Given the description of an element on the screen output the (x, y) to click on. 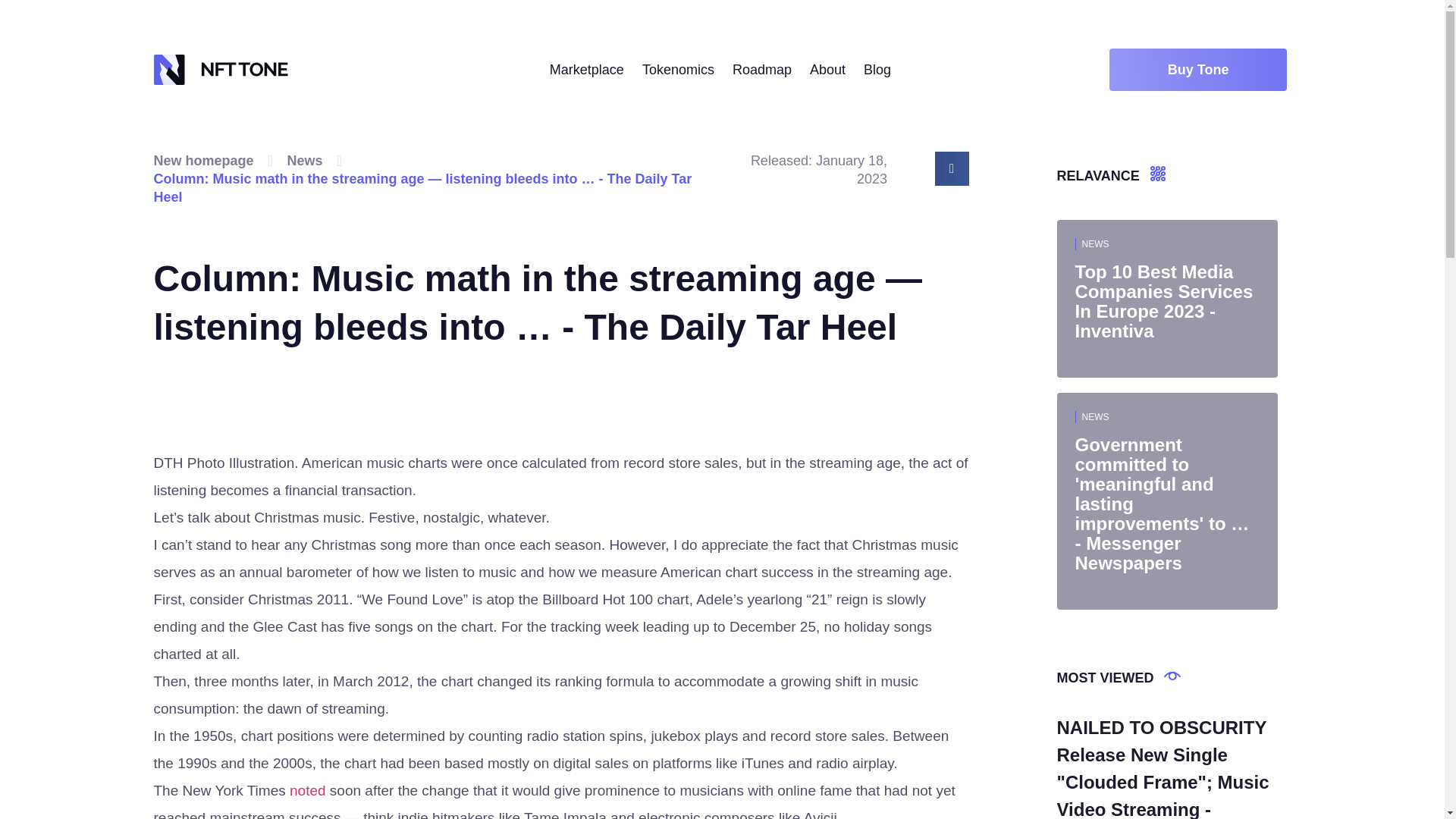
noted (307, 790)
NEWS (1094, 244)
News (304, 160)
NEWS (1094, 416)
Blog (877, 69)
Marketplace (587, 69)
About (827, 69)
Roadmap (762, 69)
Buy Tone (1198, 69)
